Given the description of an element on the screen output the (x, y) to click on. 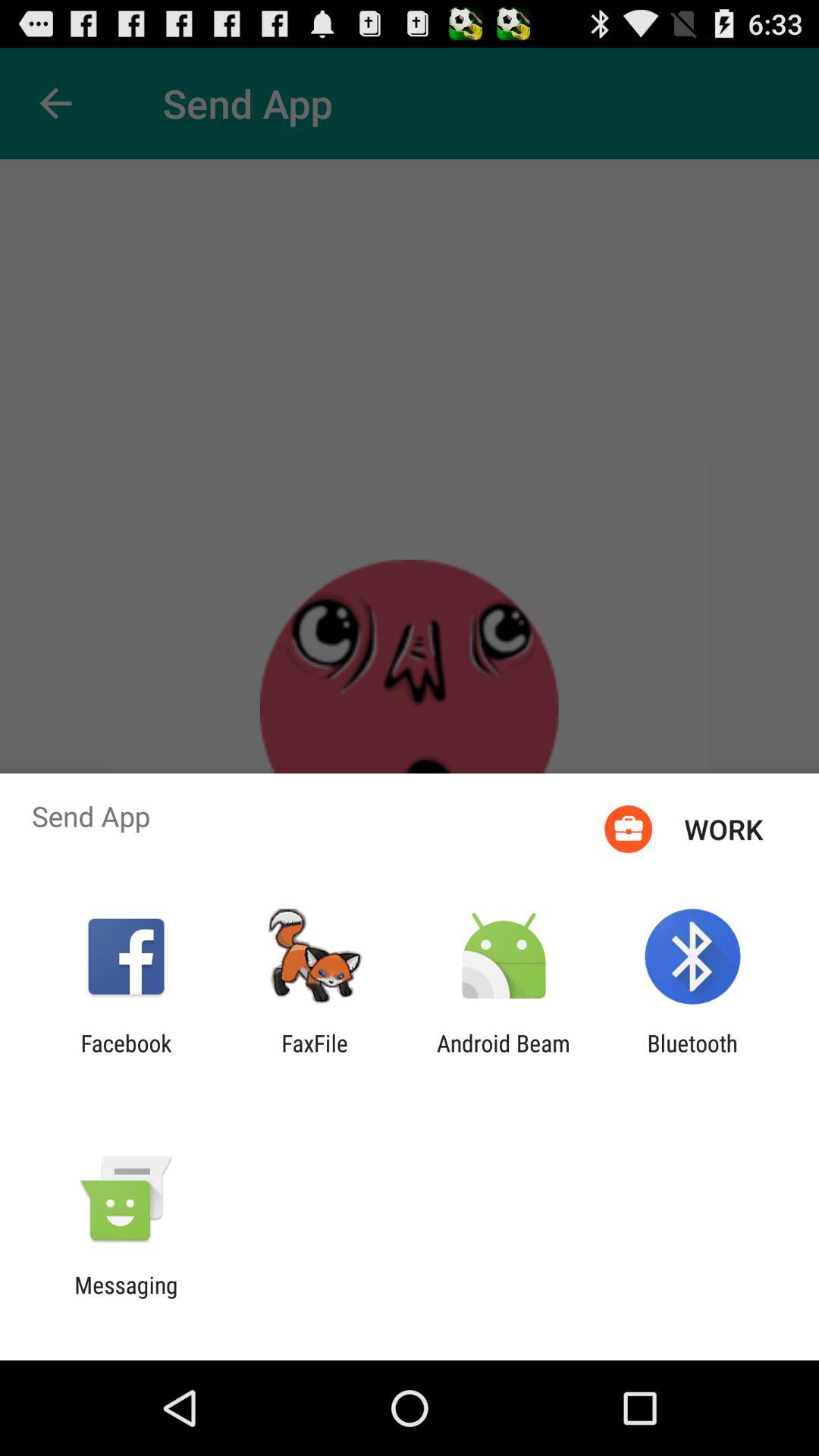
press the app to the left of the bluetooth app (503, 1056)
